Given the description of an element on the screen output the (x, y) to click on. 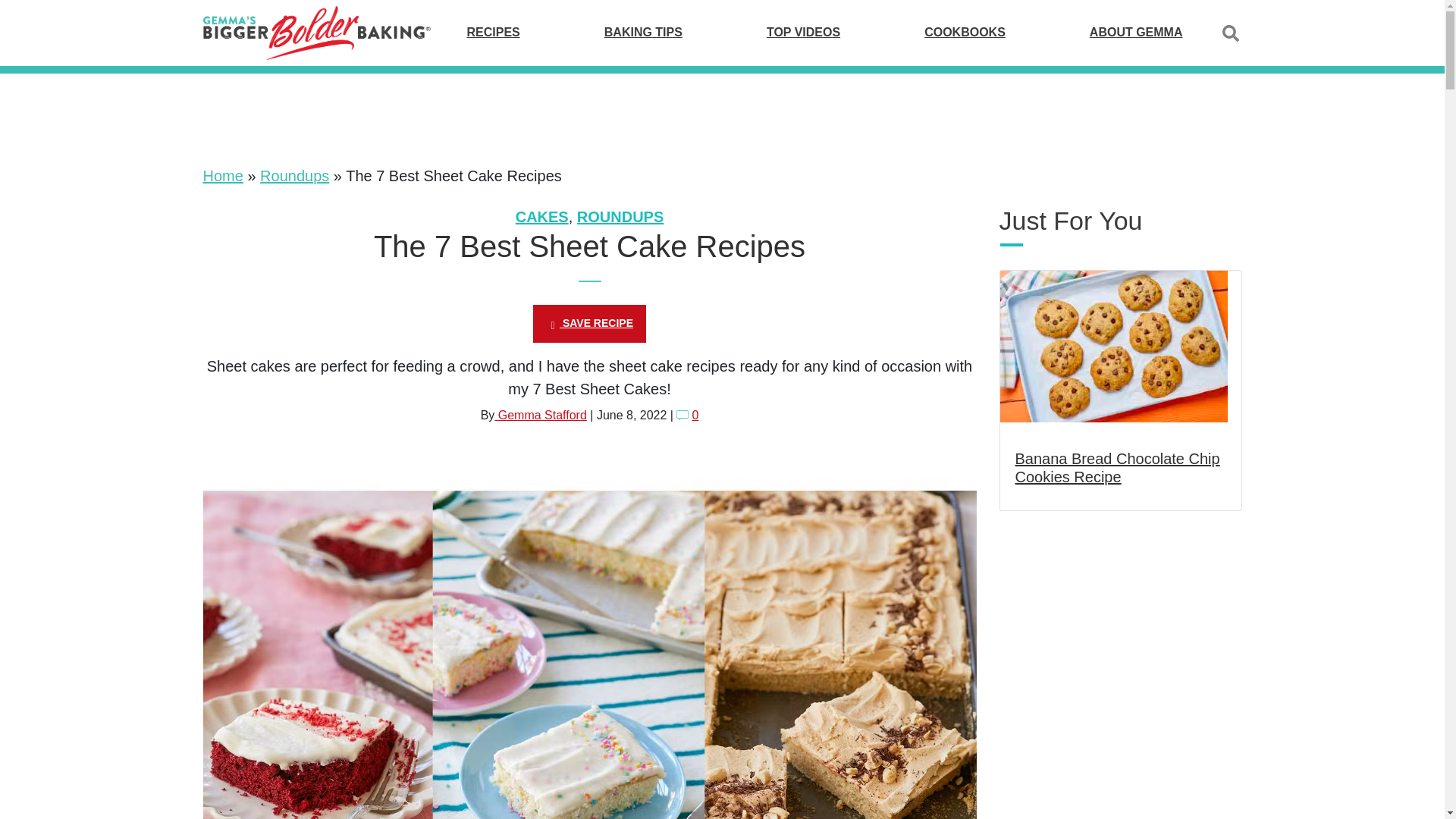
Roundups (294, 175)
Home (223, 175)
CAKES (542, 216)
TOP VIDEOS (803, 31)
RECIPES (493, 31)
Search (1230, 33)
Gemma Stafford (540, 414)
SAVE RECIPE (589, 323)
COOKBOOKS (965, 31)
ABOUT GEMMA (1135, 31)
ROUNDUPS (619, 216)
BAKING TIPS (643, 31)
